Given the description of an element on the screen output the (x, y) to click on. 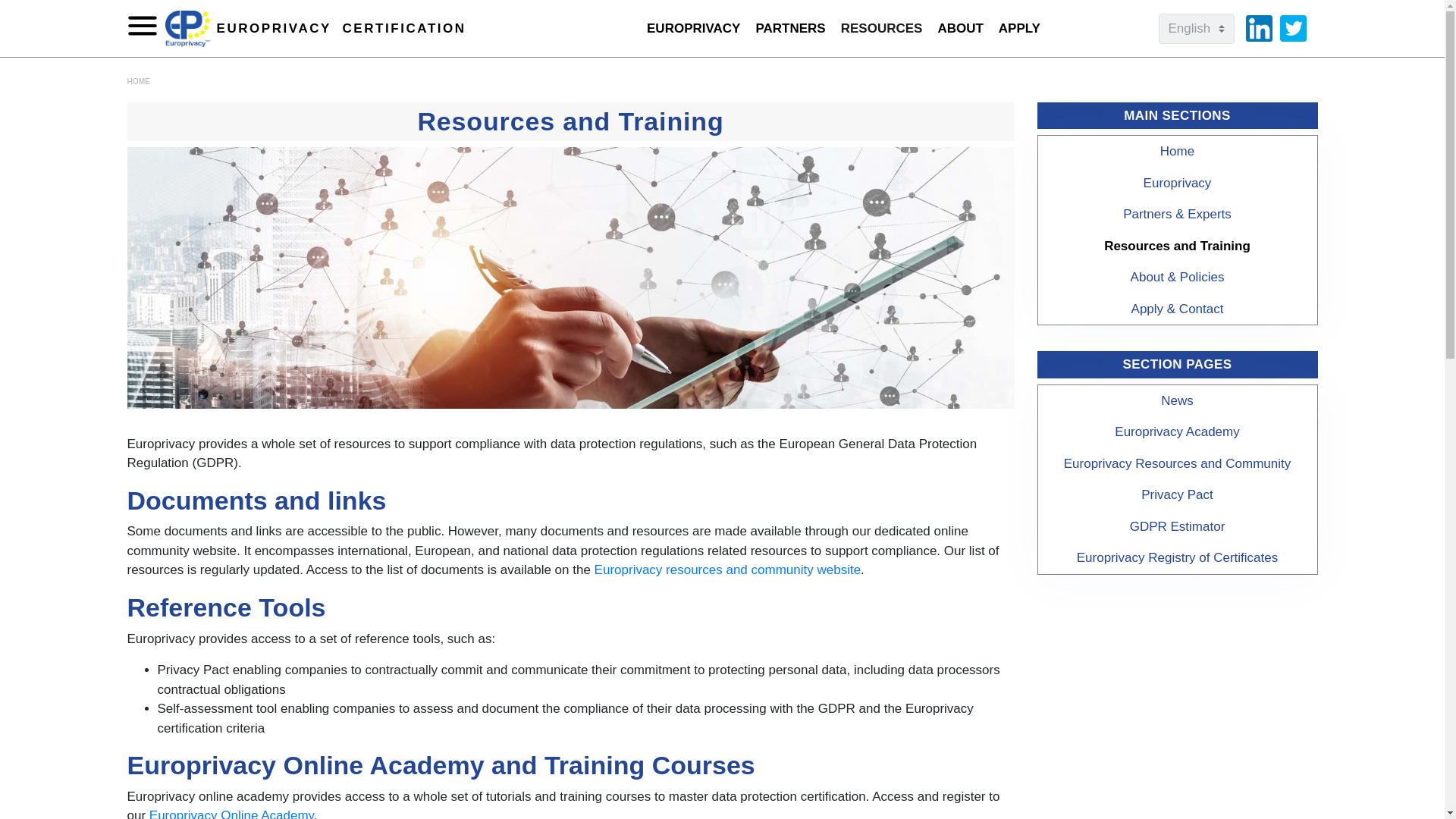
EUROPRIVACY (692, 28)
RESOURCES (882, 28)
News (1177, 400)
Europrivacy home page (1177, 151)
PARTNERS (790, 28)
ABOUT (959, 28)
Skip to main content (315, 27)
